Given the description of an element on the screen output the (x, y) to click on. 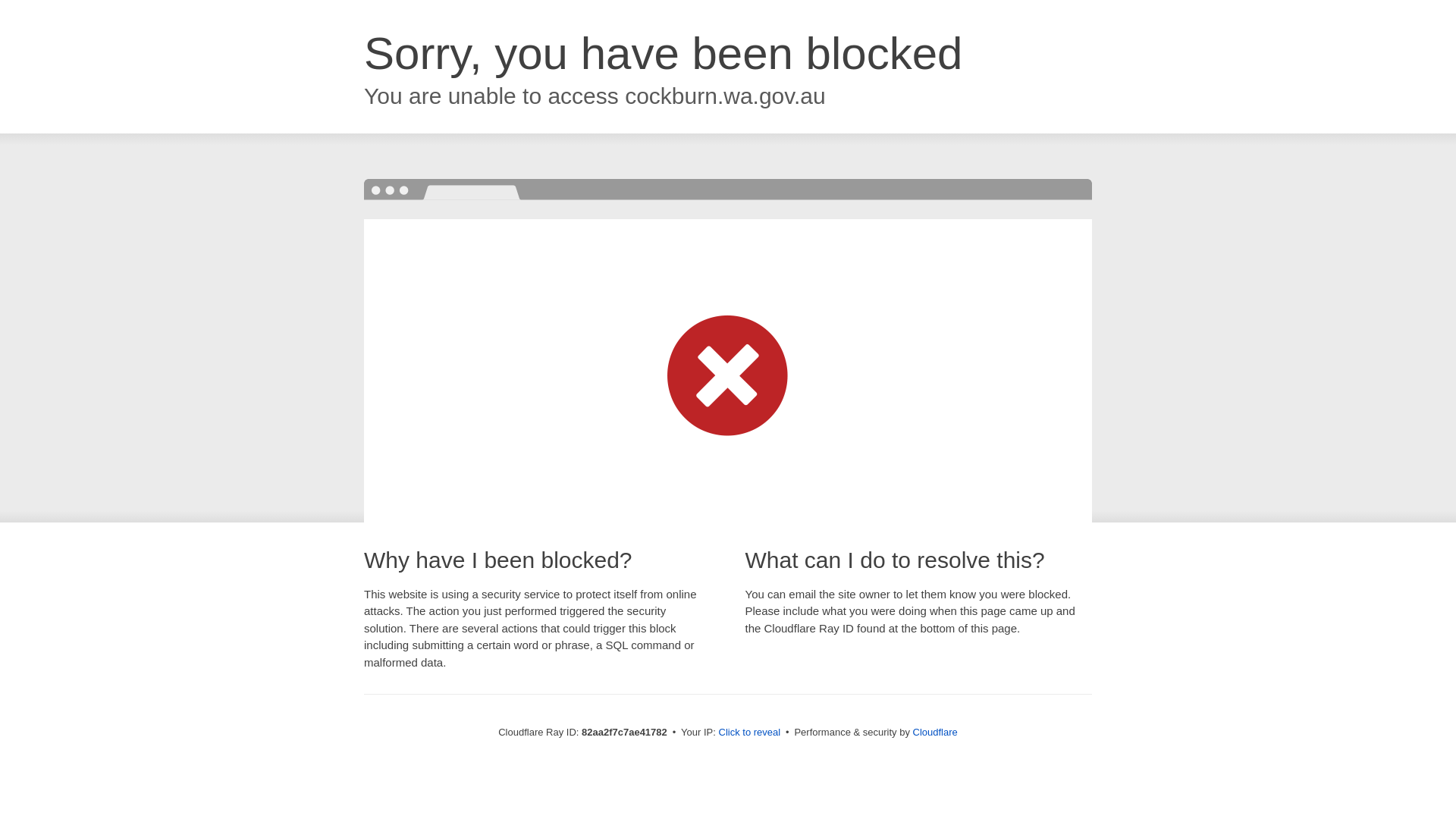
Cloudflare Element type: text (935, 731)
Click to reveal Element type: text (749, 732)
